Given the description of an element on the screen output the (x, y) to click on. 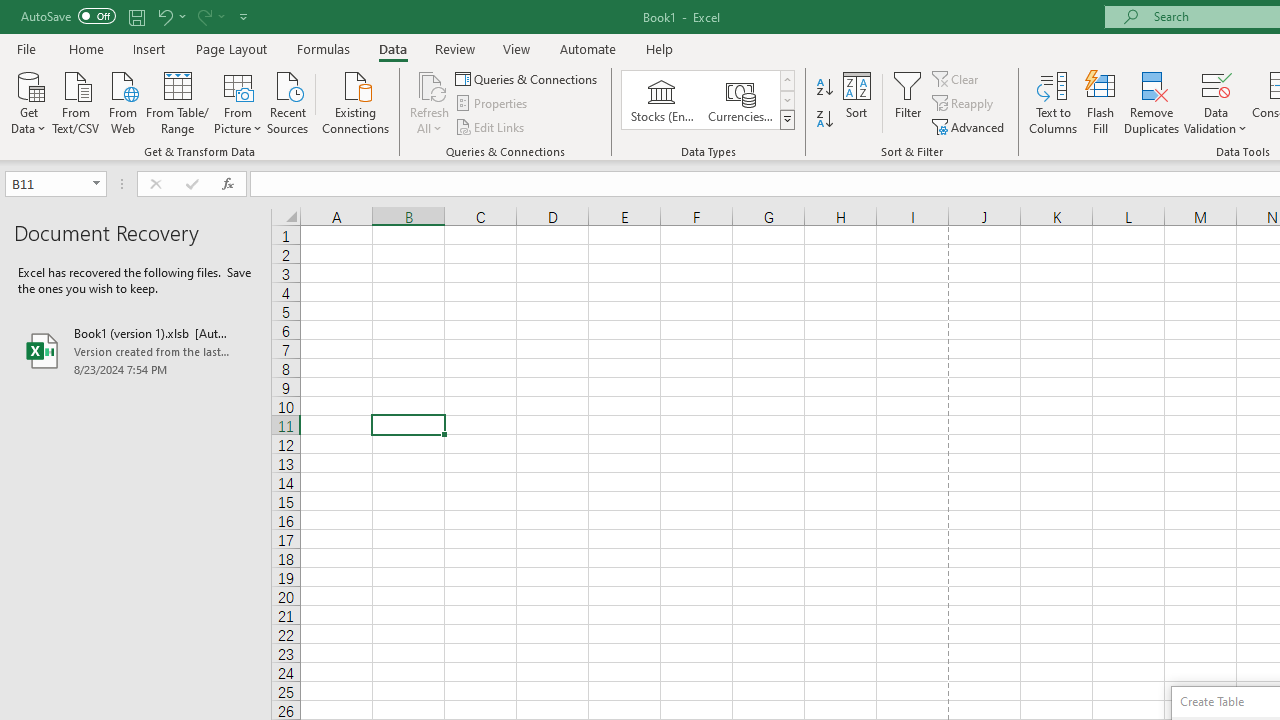
Edit Links (491, 126)
Remove Duplicates (1151, 102)
Class: NetUIImage (787, 119)
Clear (957, 78)
Flash Fill (1101, 102)
Text to Columns... (1053, 102)
Sort Z to A (824, 119)
